Given the description of an element on the screen output the (x, y) to click on. 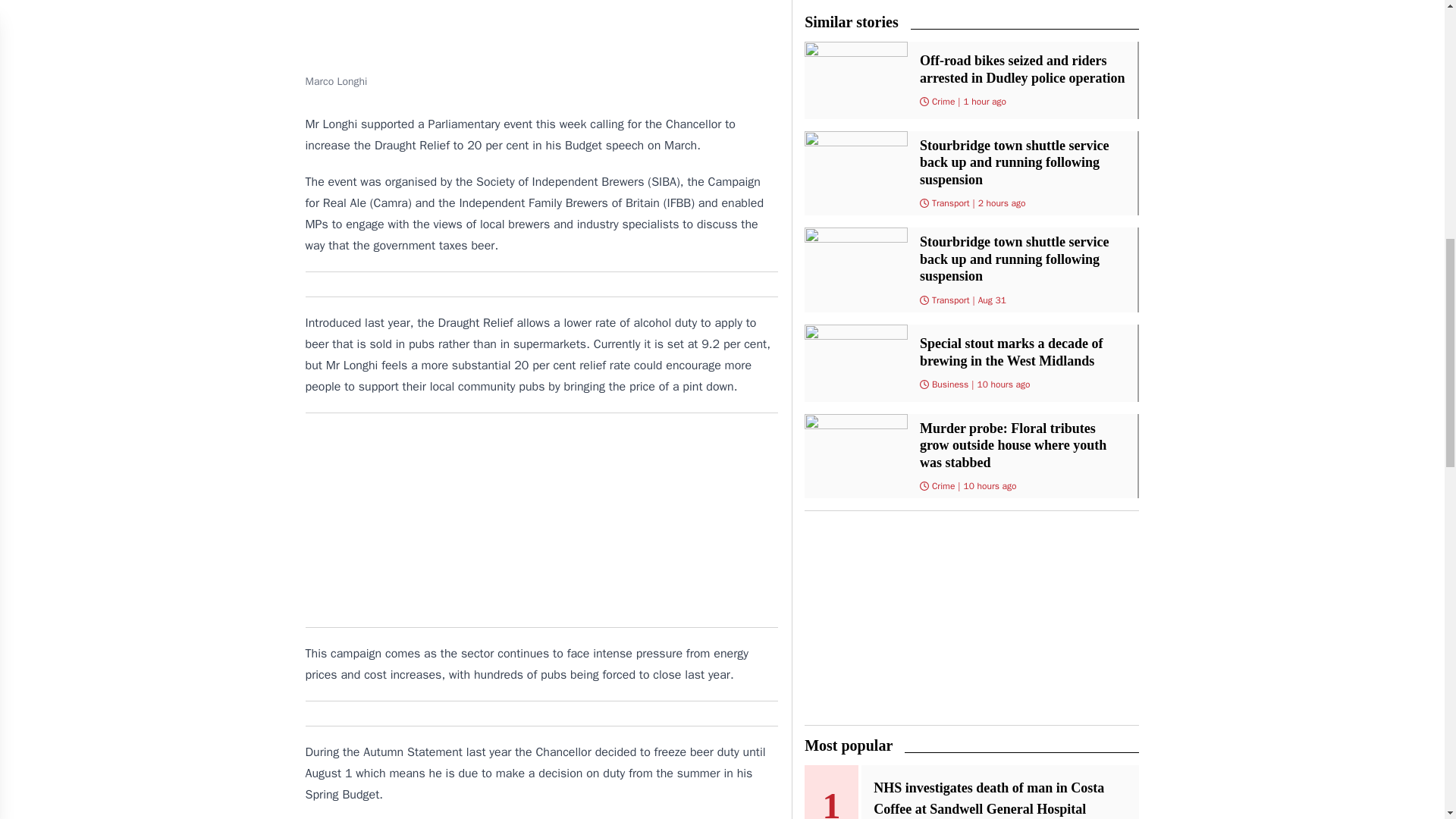
Transport (950, 203)
Crime (943, 101)
Transport (950, 300)
Crime (943, 485)
Business (949, 384)
